Given the description of an element on the screen output the (x, y) to click on. 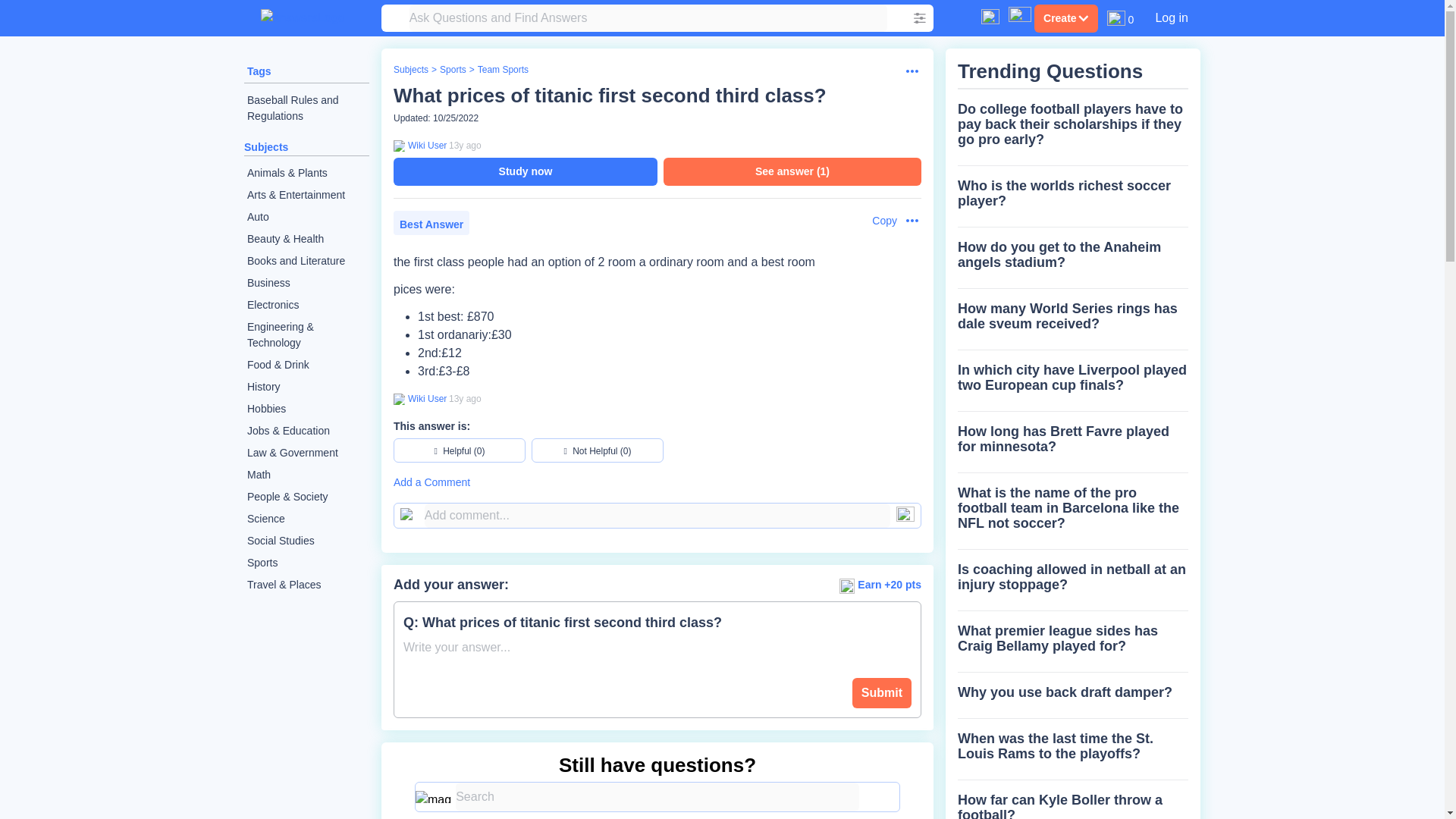
2011-03-13 21:03:39 (464, 145)
Wiki User (425, 398)
Subjects (410, 69)
Copy (876, 220)
What prices of titanic first second third class? (610, 95)
Auto (306, 217)
Science (306, 518)
Sports (452, 69)
Wiki User (425, 145)
Hobbies (306, 409)
